Given the description of an element on the screen output the (x, y) to click on. 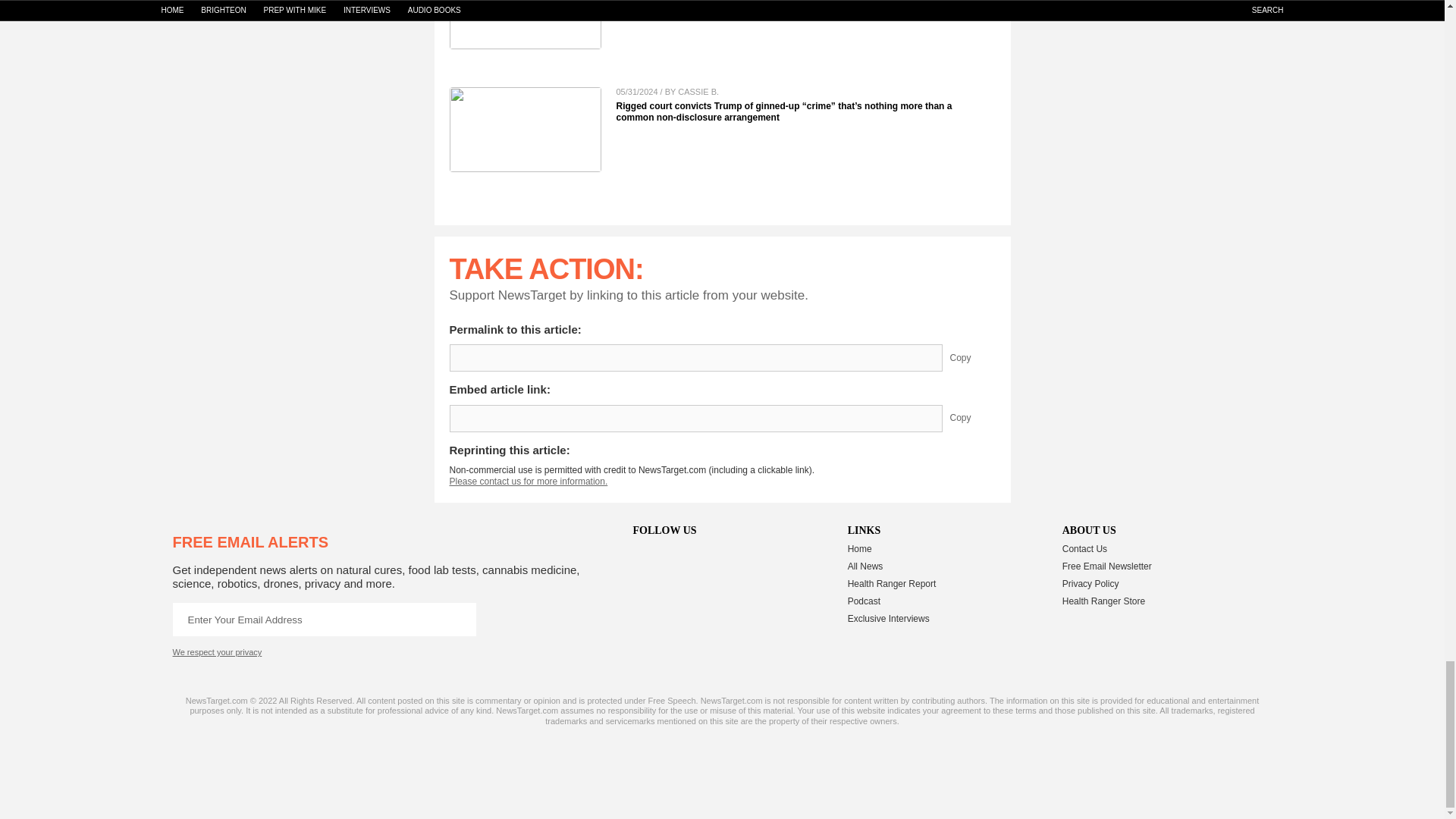
Copy Permalink (971, 357)
Continue (459, 619)
Copy Embed Link (971, 418)
